Given the description of an element on the screen output the (x, y) to click on. 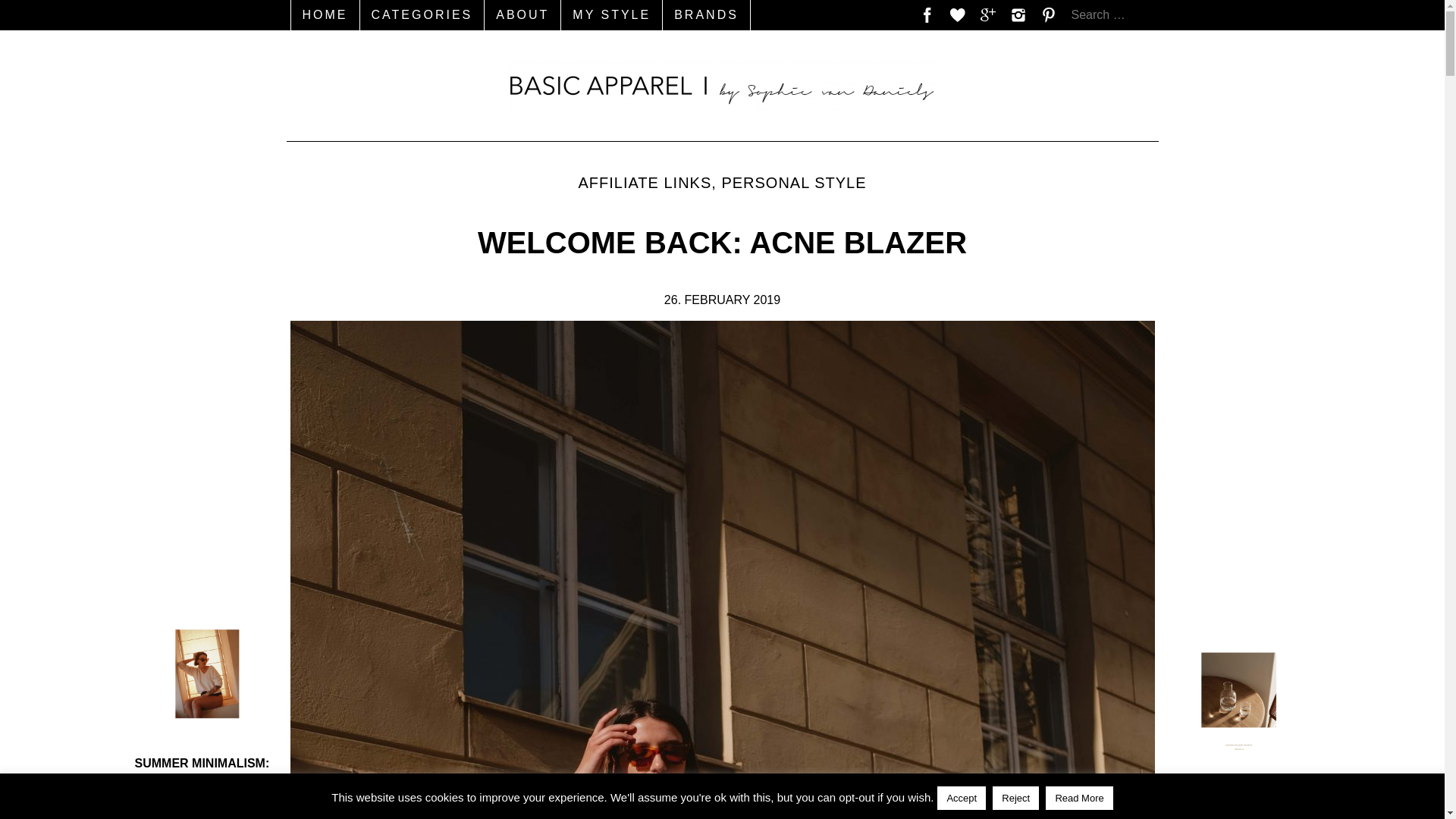
MY STYLE (611, 15)
Basic Apparel (722, 85)
CATEGORIES (421, 15)
AFFILIATE LINKS (644, 182)
Welcome Back: Acne Blazer (721, 263)
ABOUT (522, 15)
WELCOME BACK: ACNE BLAZER (721, 263)
BRANDS (706, 15)
Search (25, 11)
HOME (325, 15)
PERSONAL STYLE (793, 182)
